Given the description of an element on the screen output the (x, y) to click on. 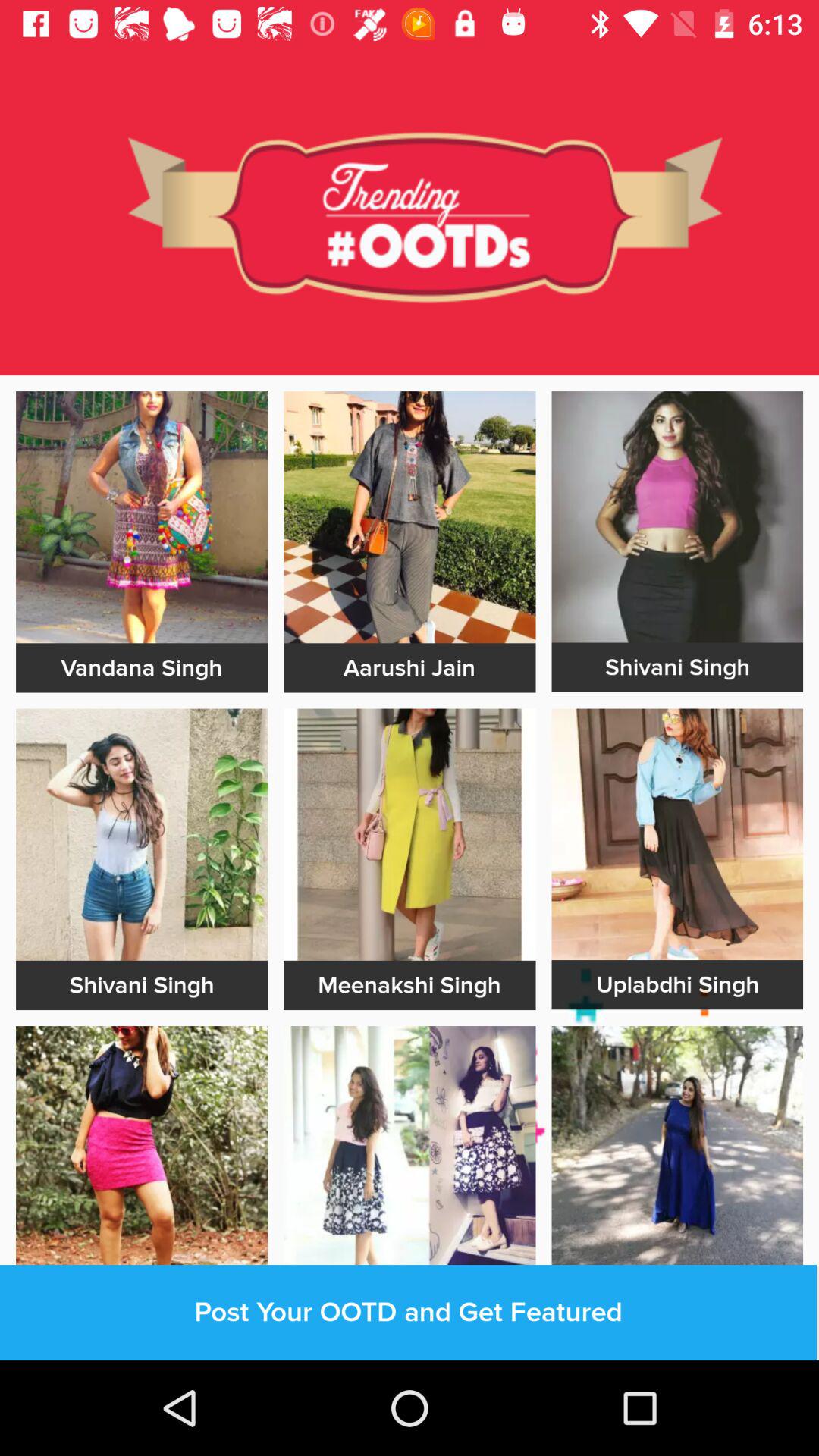
imaage (141, 834)
